Given the description of an element on the screen output the (x, y) to click on. 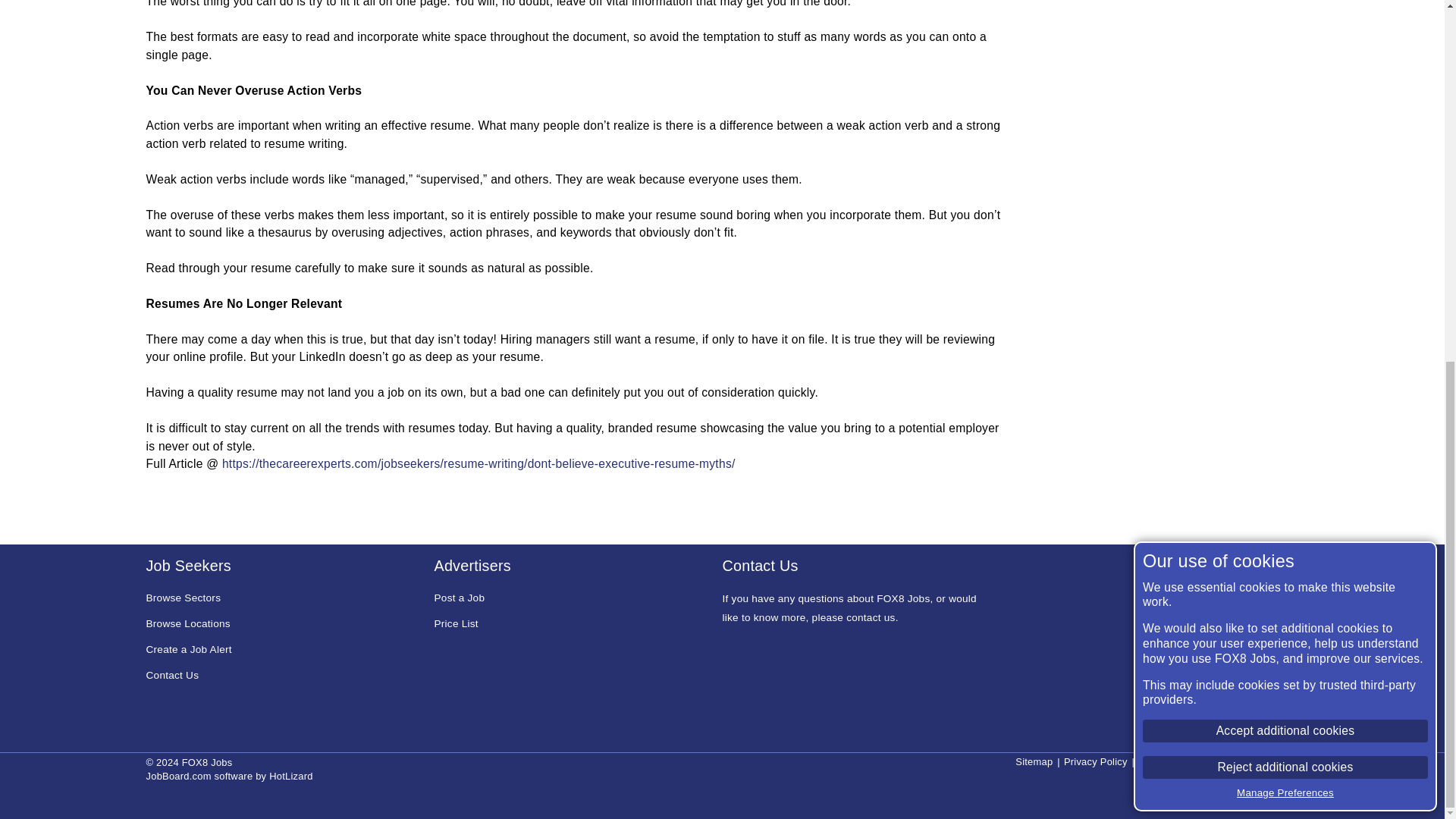
Create a Job Alert (188, 650)
Terms of Use (1168, 761)
Reject additional cookies (1285, 124)
JobBoard.com (178, 776)
Manage Preferences (1284, 150)
Browse Sectors (183, 598)
Browse Locations (187, 624)
Cookie Preferences (1253, 761)
HotLizard (291, 776)
Privacy Policy (1095, 761)
